Given the description of an element on the screen output the (x, y) to click on. 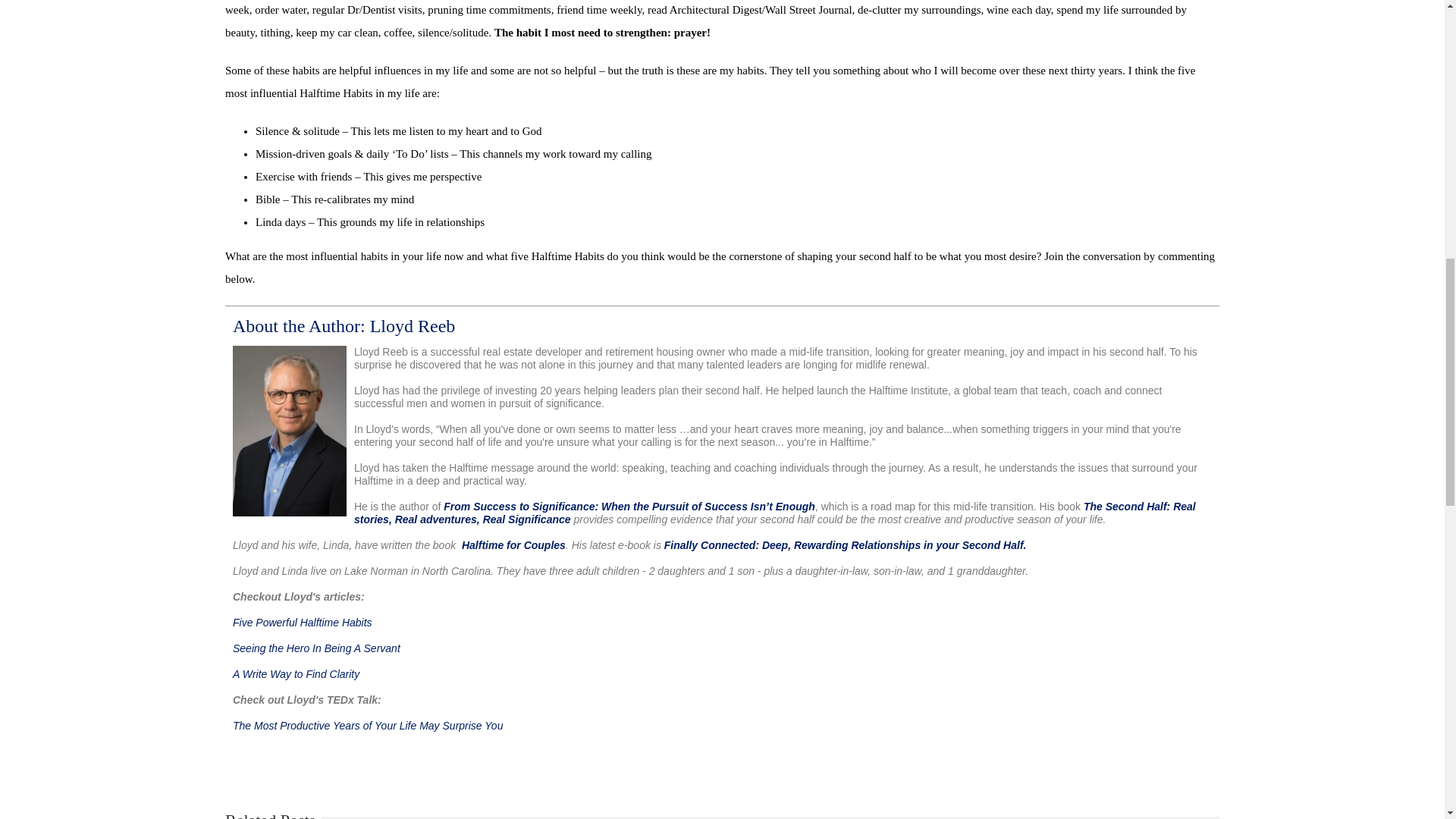
Lloyd Reeb (343, 325)
